Given the description of an element on the screen output the (x, y) to click on. 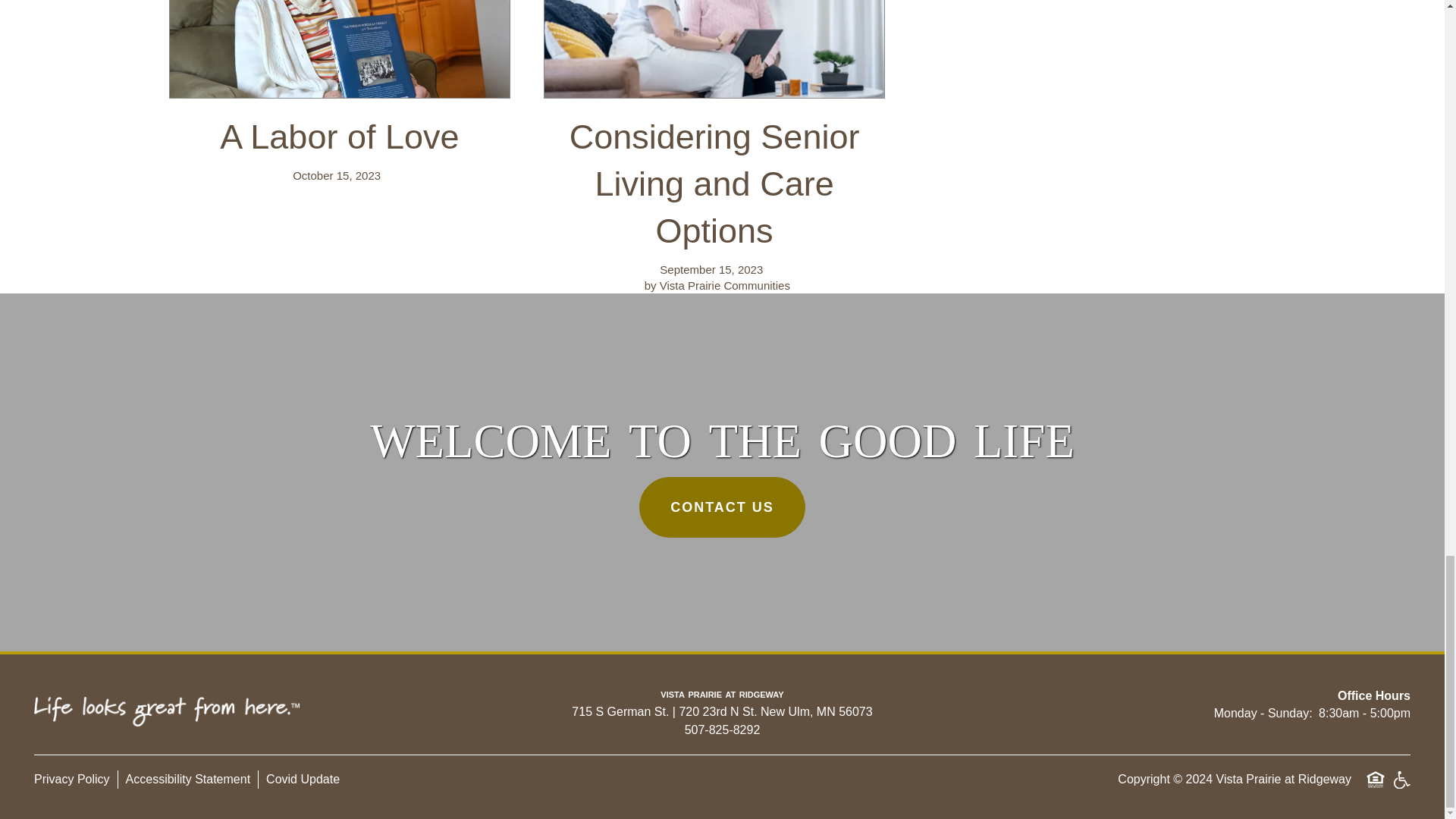
Property Phone Number (722, 730)
